Given the description of an element on the screen output the (x, y) to click on. 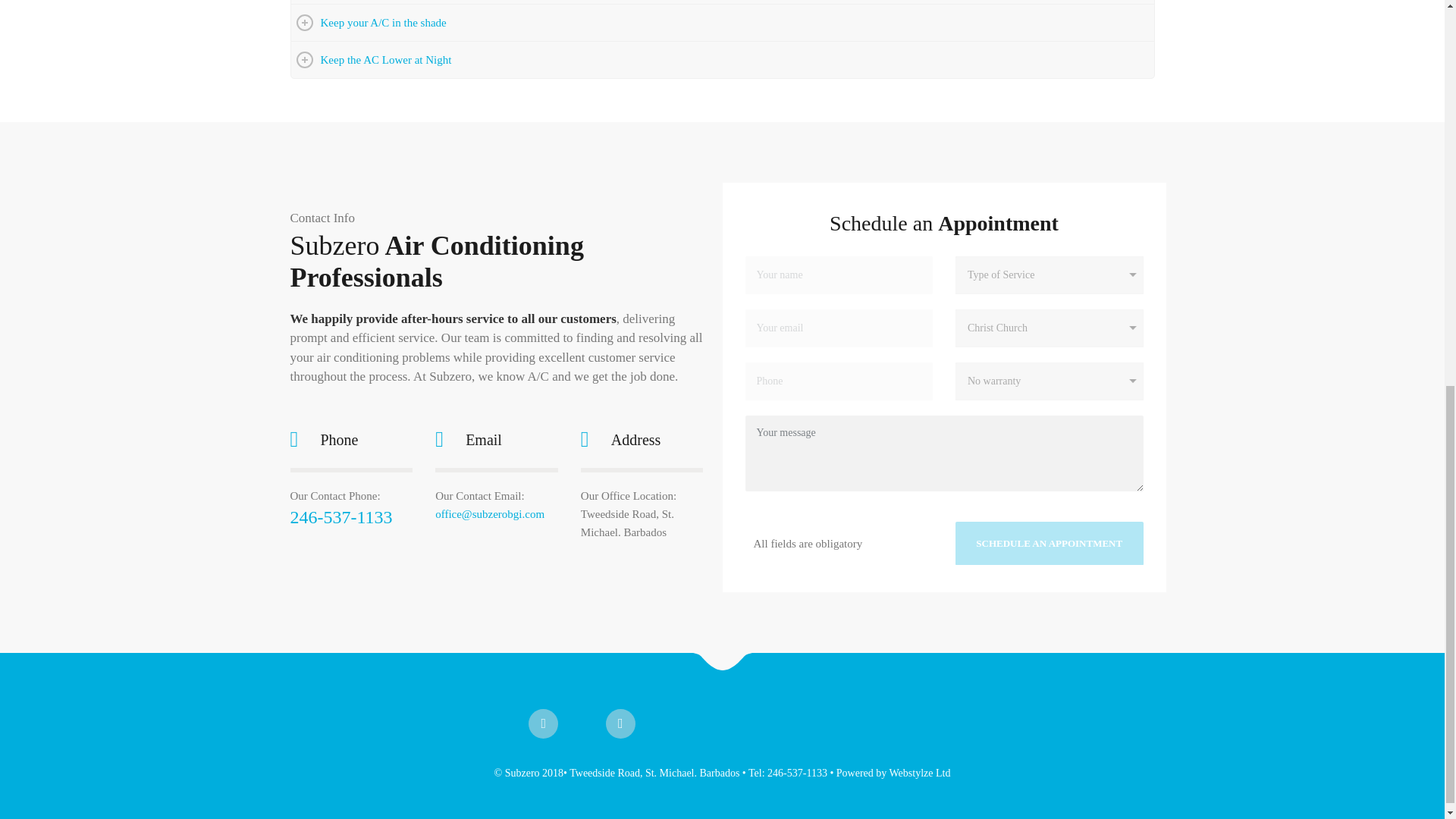
Schedule an Appointment (1048, 543)
Keep the AC Lower at Night (722, 59)
Schedule an Appointment (1048, 543)
